Given the description of an element on the screen output the (x, y) to click on. 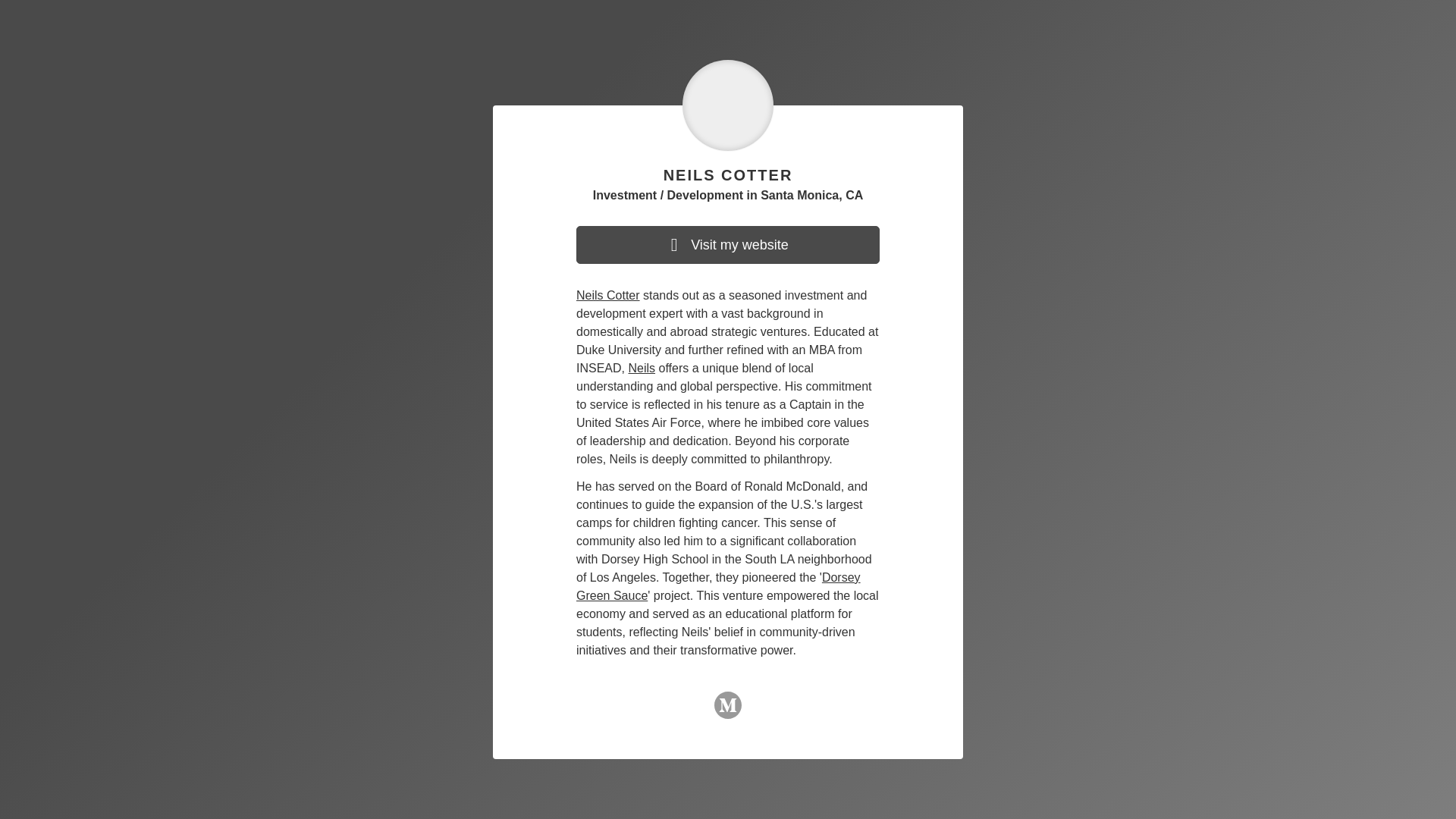
Dorsey Green Sauce (718, 585)
Neils (641, 367)
Neils Cotter (608, 295)
Visit my website (727, 244)
Visit me on Medium (727, 710)
